Given the description of an element on the screen output the (x, y) to click on. 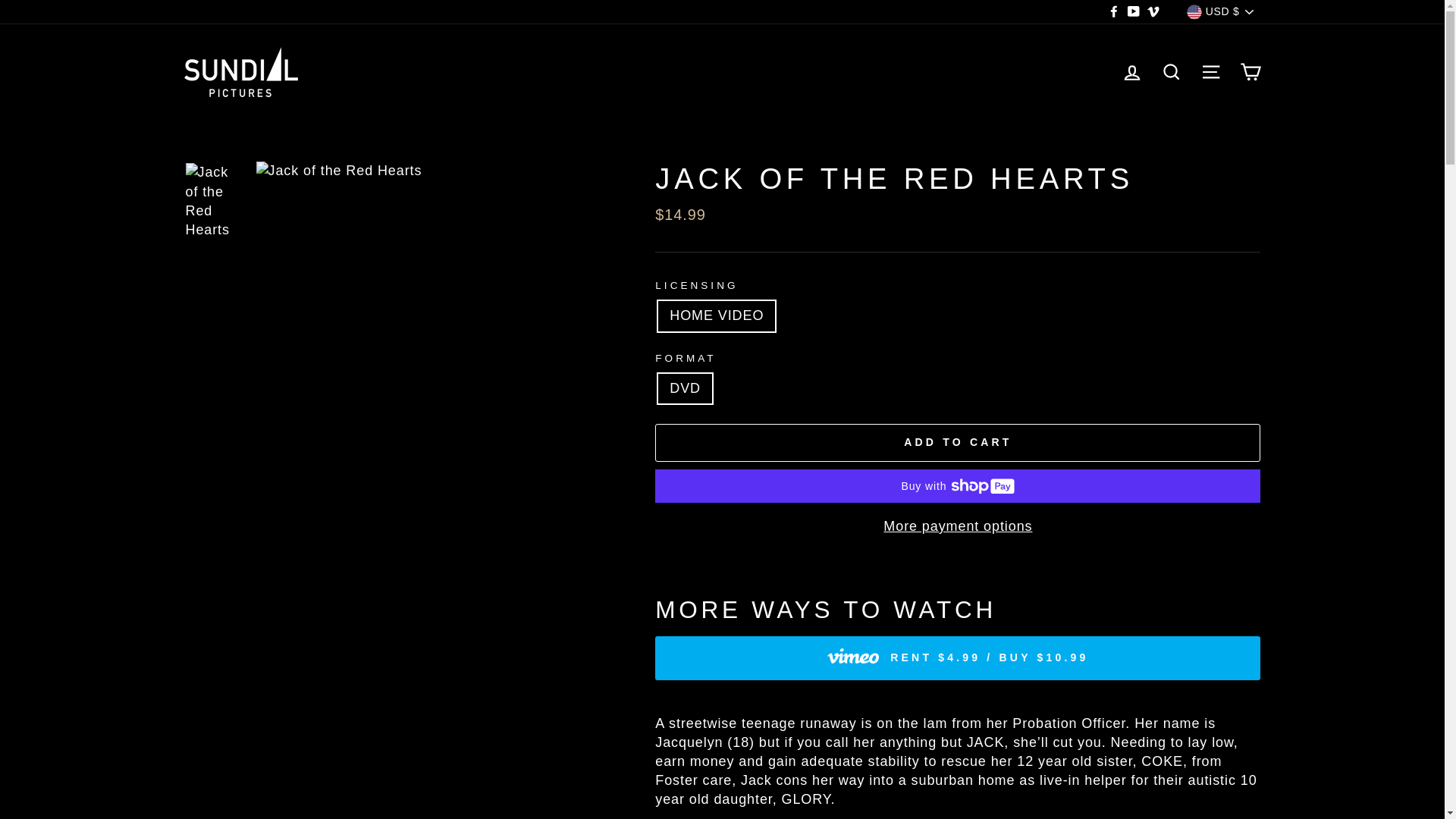
LOG IN (1131, 72)
Page 1 (957, 766)
ADD TO CART (957, 442)
More payment options (957, 526)
SEARCH (1171, 72)
SITE NAVIGATION (1210, 72)
CART (1249, 72)
